Given the description of an element on the screen output the (x, y) to click on. 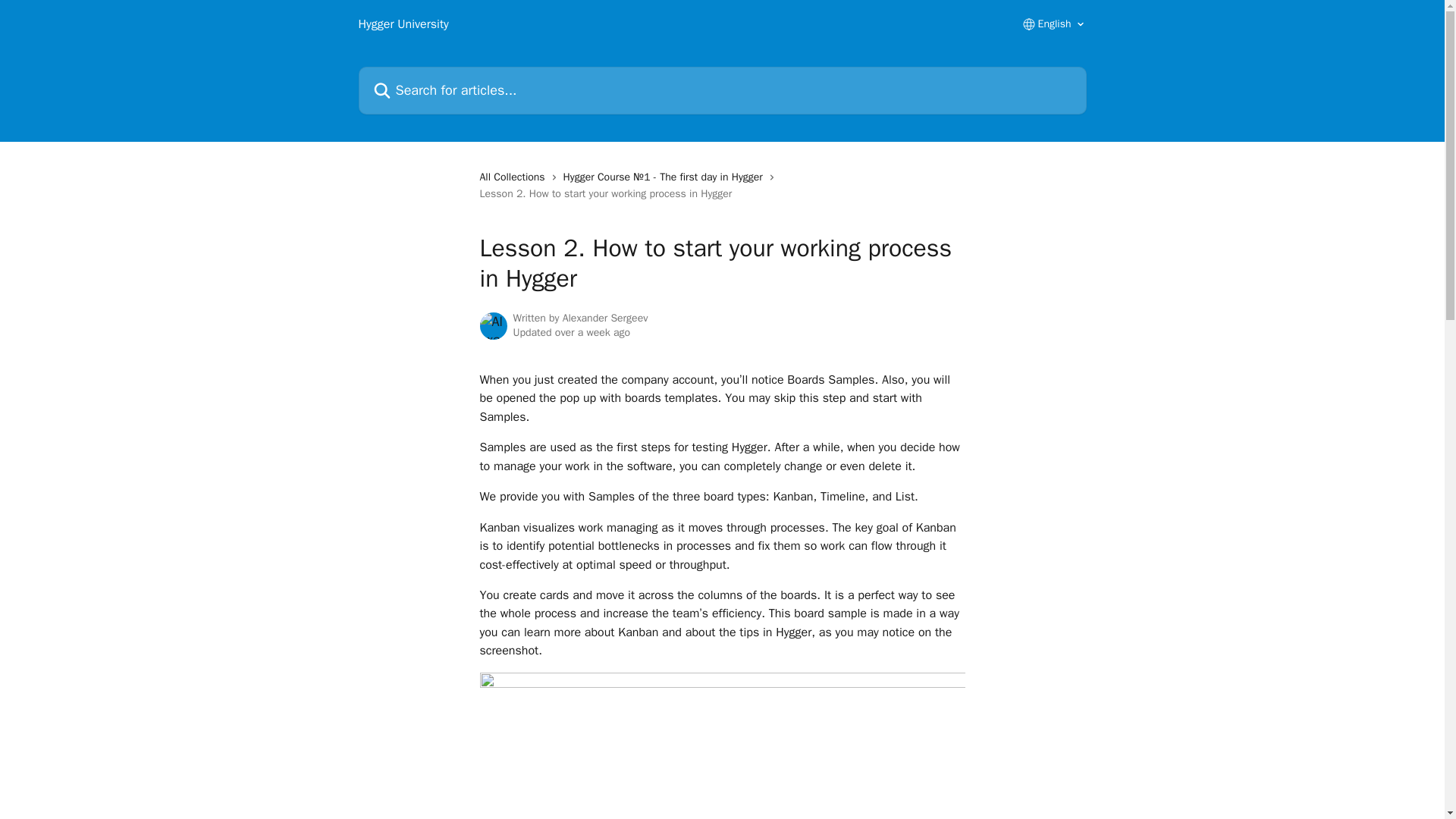
All Collections (514, 176)
